Given the description of an element on the screen output the (x, y) to click on. 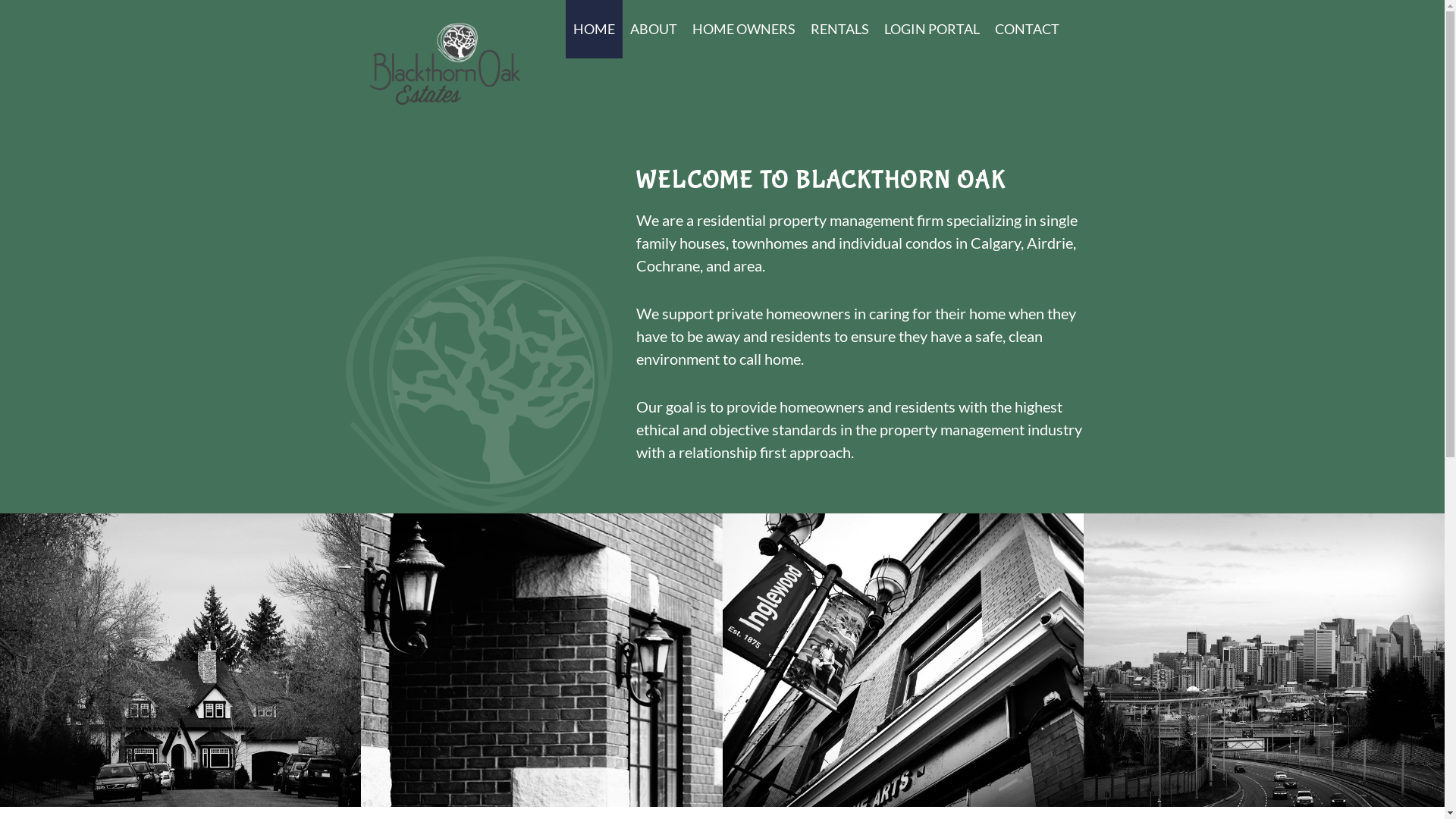
HOME Element type: text (593, 29)
Blackthorn Oak Estates Element type: text (443, 64)
HOME OWNERS Element type: text (743, 29)
ABOUT Element type: text (653, 29)
LOGIN PORTAL Element type: text (931, 29)
RENTALS Element type: text (839, 29)
CONTACT Element type: text (1026, 29)
